Given the description of an element on the screen output the (x, y) to click on. 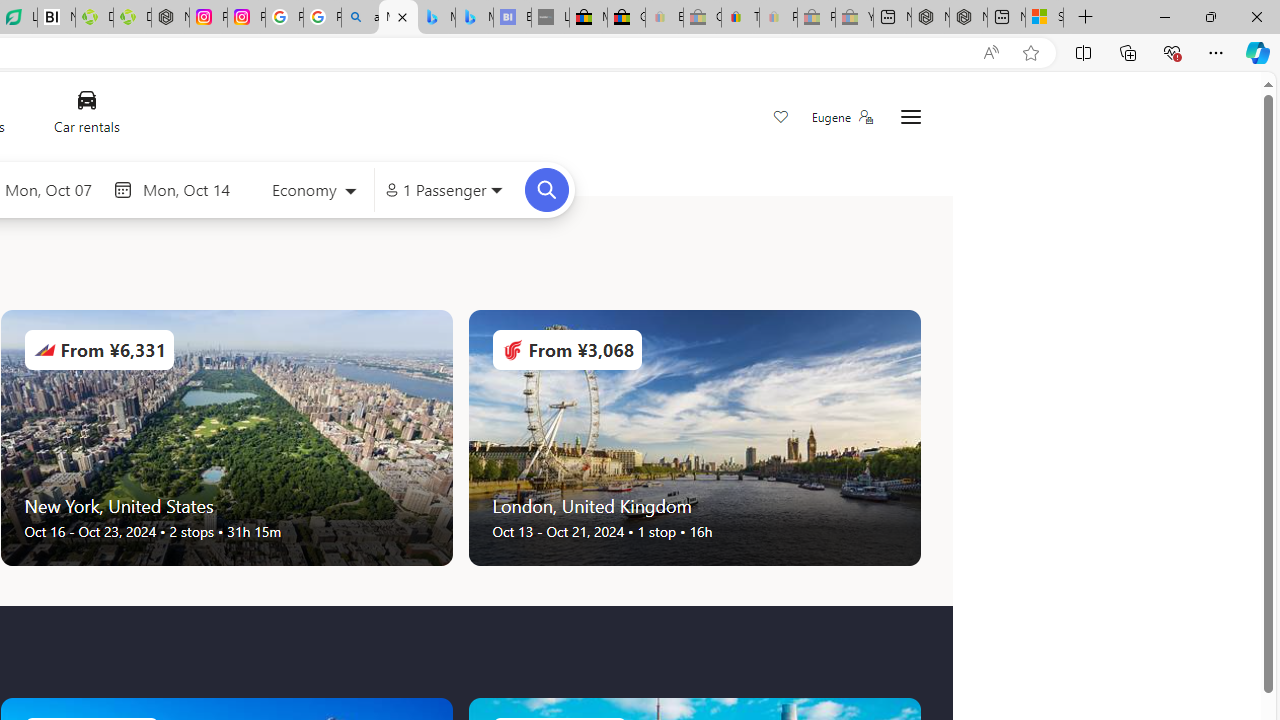
End date (191, 189)
Nordace - Nordace Edin Collection (170, 17)
Threats and offensive language policy | eBay (740, 17)
Payments Terms of Use | eBay.com - Sleeping (778, 17)
Microsoft Bing Travel - Flights (398, 17)
